Given the description of an element on the screen output the (x, y) to click on. 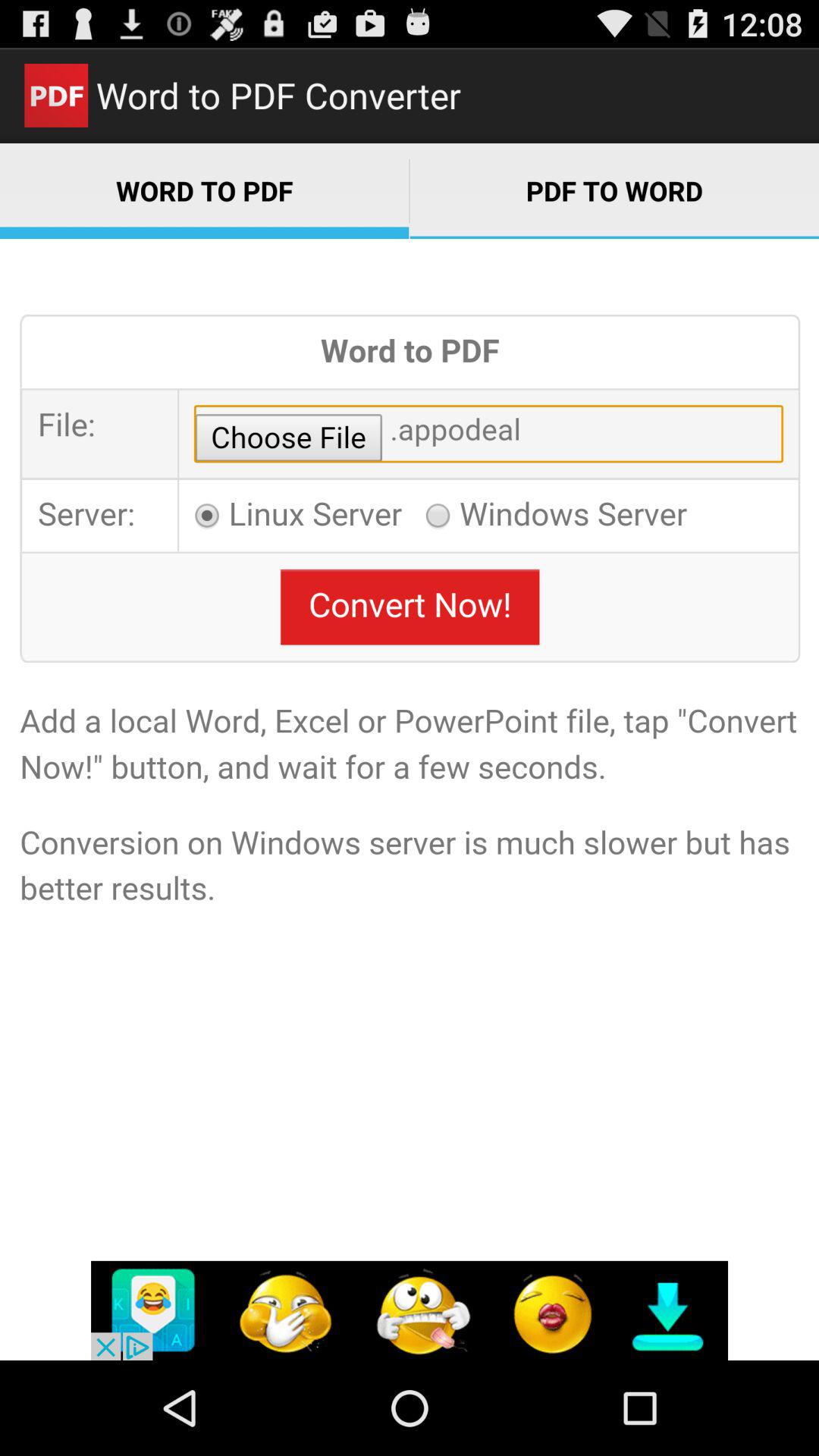
more options (409, 1310)
